Given the description of an element on the screen output the (x, y) to click on. 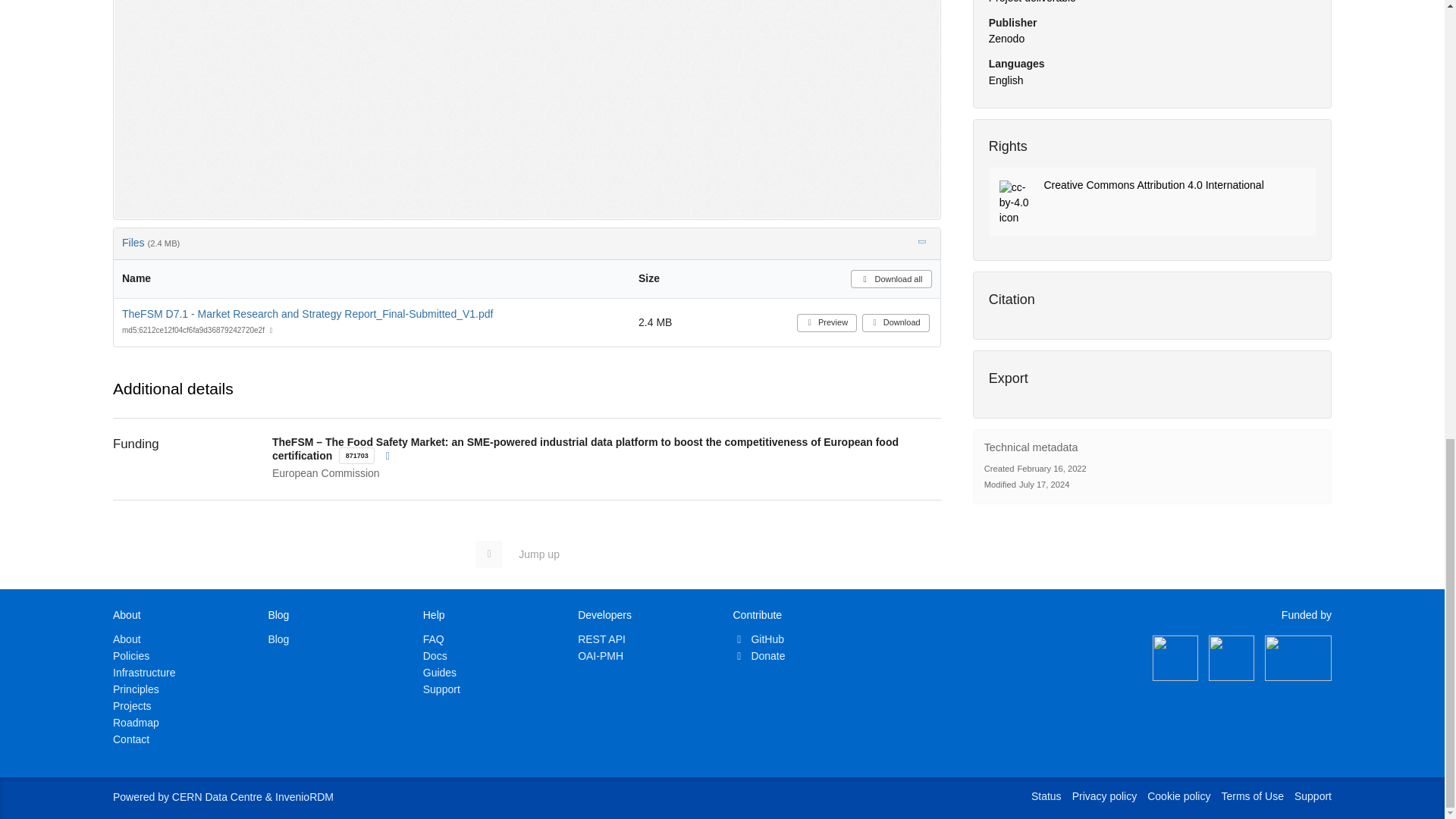
Projects (132, 705)
Jump up (525, 554)
Preview (826, 322)
Principles (135, 689)
Infrastructure (143, 672)
About (127, 639)
Download (895, 322)
Roadmap (135, 722)
Download all (890, 279)
Contact (131, 739)
